Given the description of an element on the screen output the (x, y) to click on. 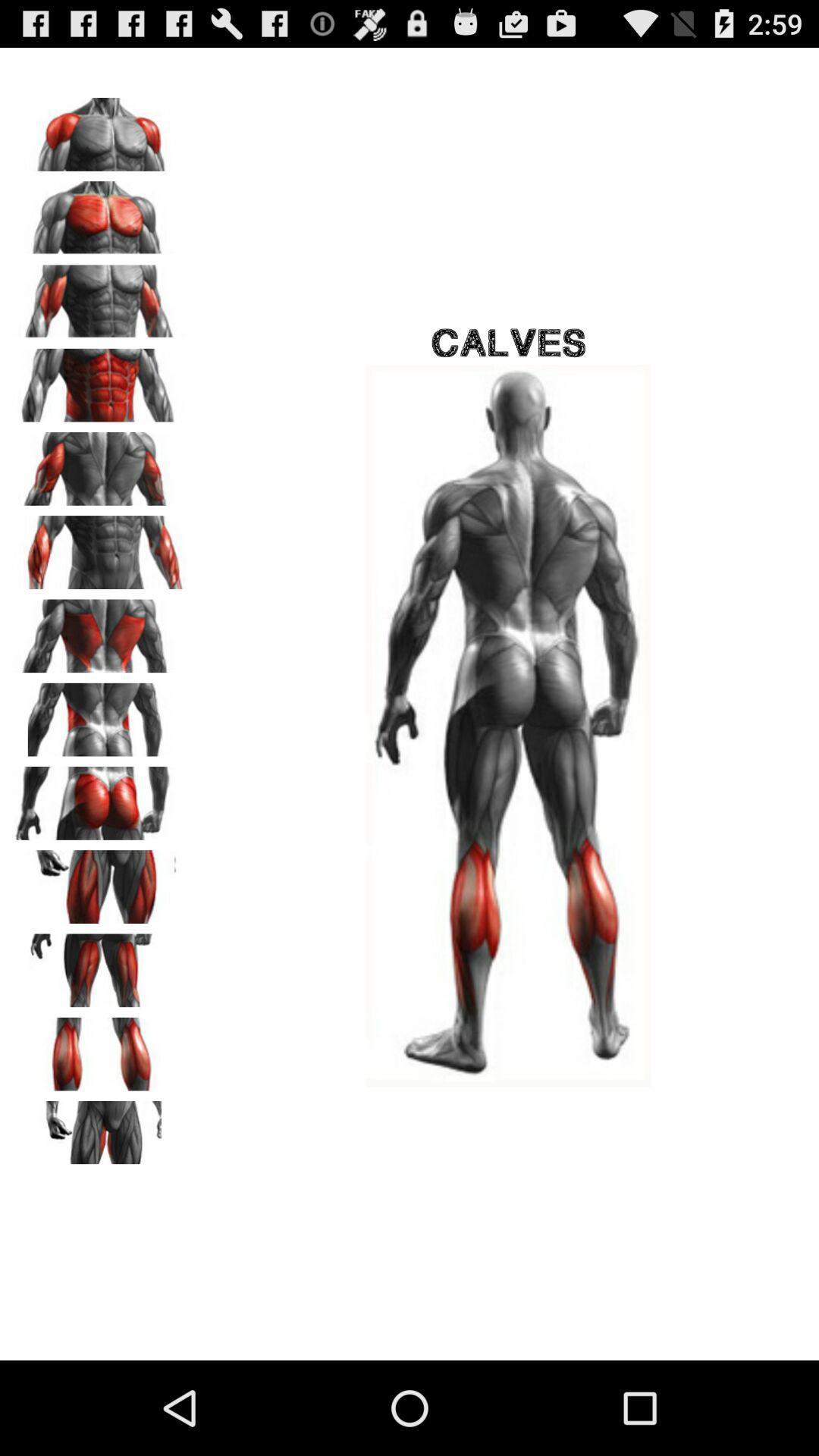
toggle to back muscles (99, 630)
